Given the description of an element on the screen output the (x, y) to click on. 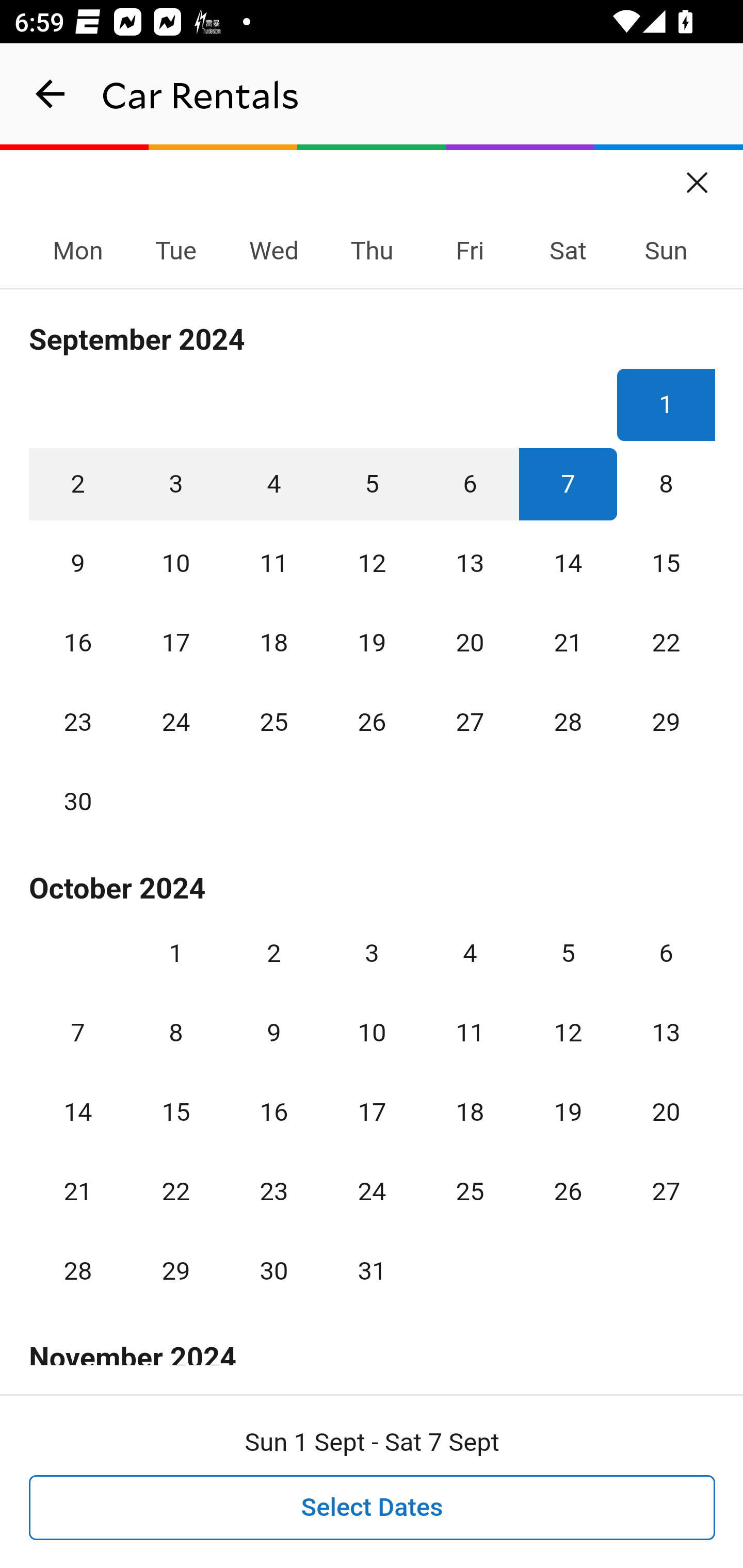
navigation_button (50, 93)
Close (697, 176)
1 September 2024 (665, 404)
2 September 2024 (77, 484)
3 September 2024 (175, 484)
4 September 2024 (273, 484)
5 September 2024 (371, 484)
6 September 2024 (470, 484)
7 September 2024 (567, 484)
8 September 2024 (665, 484)
9 September 2024 (77, 563)
10 September 2024 (175, 563)
11 September 2024 (273, 563)
12 September 2024 (371, 563)
13 September 2024 (470, 563)
14 September 2024 (567, 563)
15 September 2024 (665, 563)
16 September 2024 (77, 642)
17 September 2024 (175, 642)
18 September 2024 (273, 642)
19 September 2024 (371, 642)
20 September 2024 (470, 642)
21 September 2024 (567, 642)
22 September 2024 (665, 642)
23 September 2024 (77, 722)
24 September 2024 (175, 722)
25 September 2024 (273, 722)
26 September 2024 (371, 722)
27 September 2024 (470, 722)
28 September 2024 (567, 722)
29 September 2024 (665, 722)
30 September 2024 (77, 801)
1 October 2024 (175, 952)
2 October 2024 (273, 952)
3 October 2024 (371, 952)
4 October 2024 (470, 952)
5 October 2024 (567, 952)
6 October 2024 (665, 952)
7 October 2024 (77, 1032)
8 October 2024 (175, 1032)
9 October 2024 (273, 1032)
10 October 2024 (371, 1032)
11 October 2024 (470, 1032)
12 October 2024 (567, 1032)
13 October 2024 (665, 1032)
14 October 2024 (77, 1112)
15 October 2024 (175, 1112)
16 October 2024 (273, 1112)
17 October 2024 (371, 1112)
18 October 2024 (470, 1112)
